Given the description of an element on the screen output the (x, y) to click on. 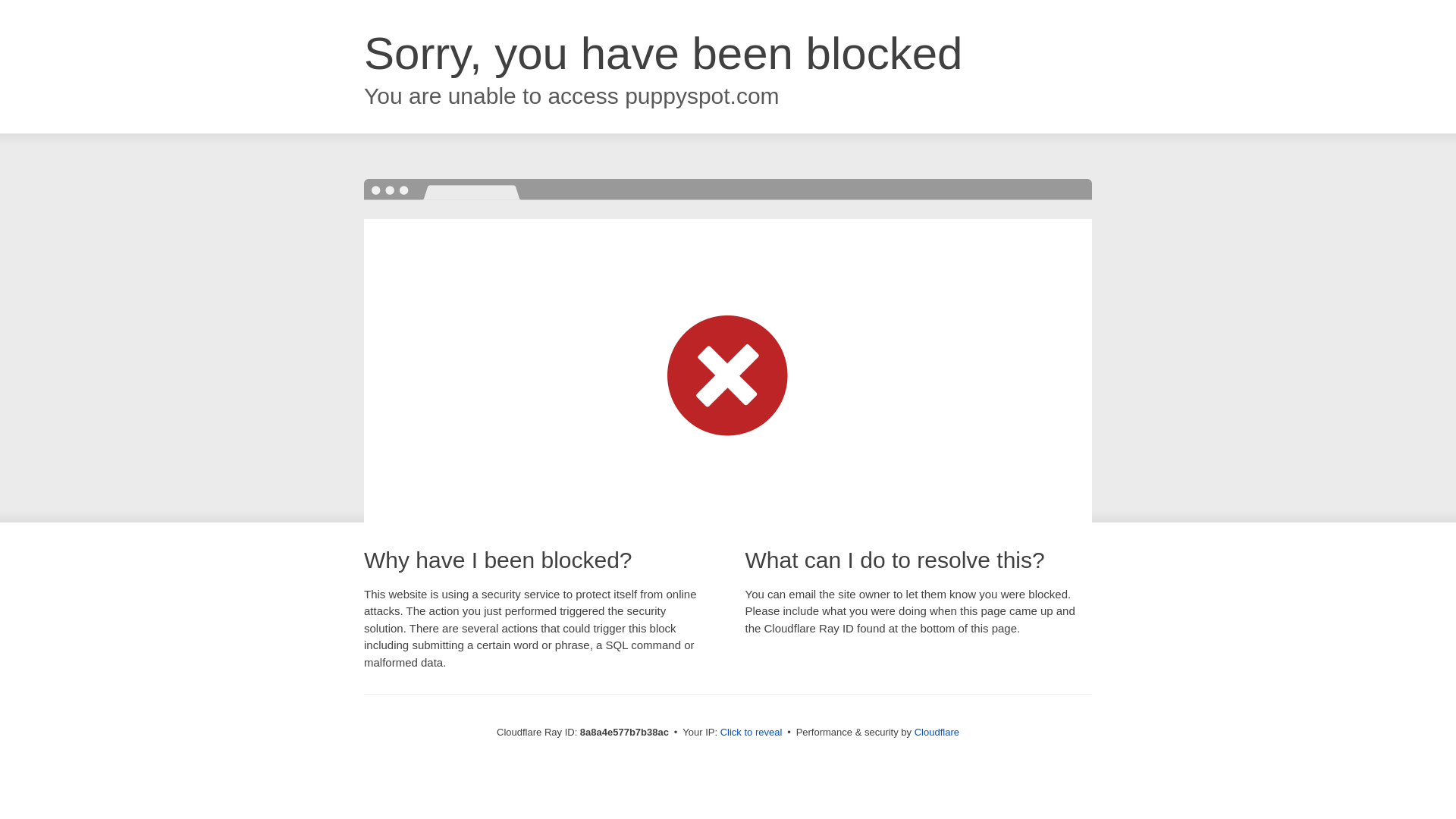
Click to reveal (751, 732)
Cloudflare (936, 731)
